Given the description of an element on the screen output the (x, y) to click on. 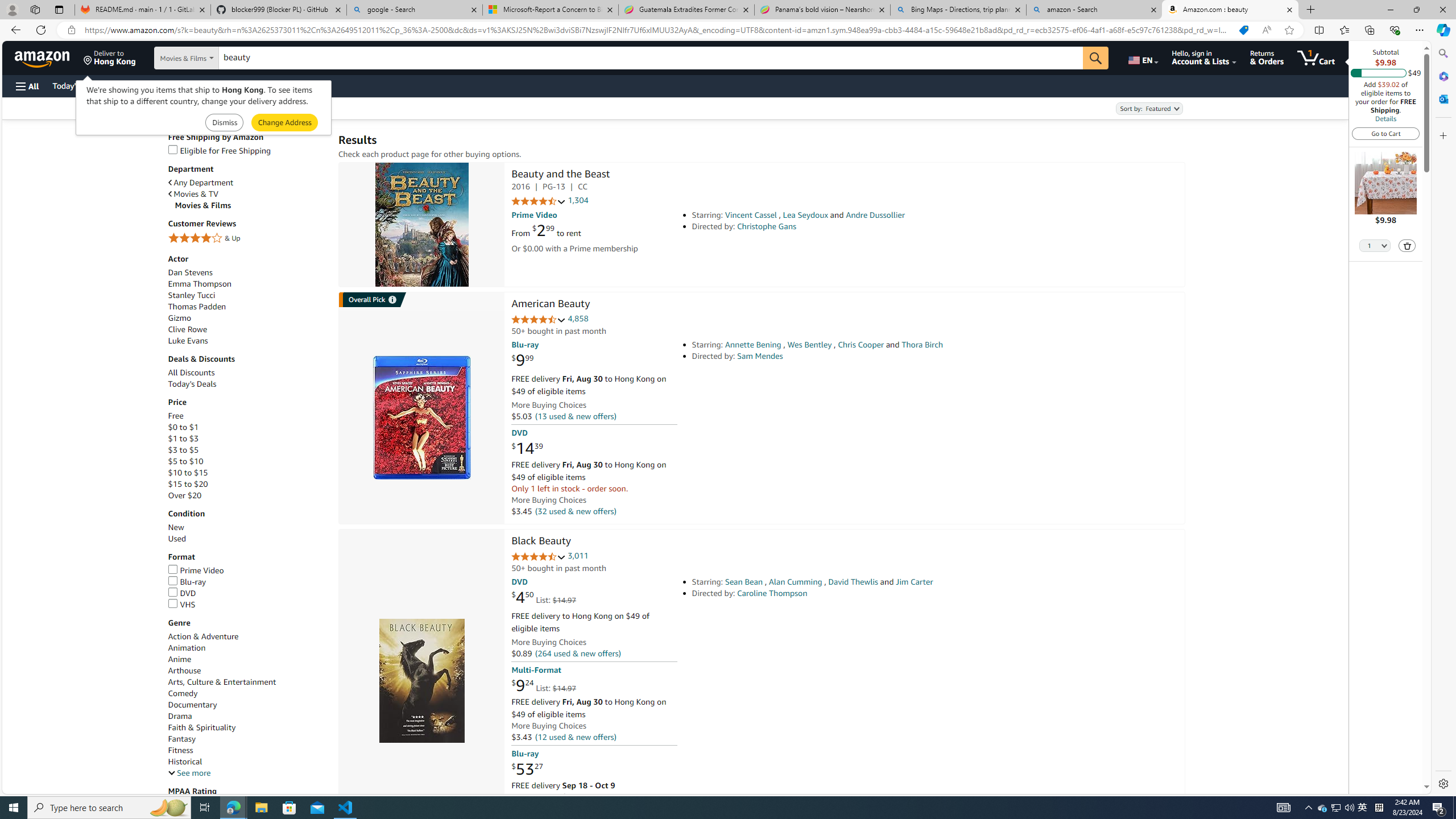
Beauty and the Beast (560, 174)
Registry (205, 85)
Vincent Cassel (751, 214)
$14.39 (527, 448)
Clive Rowe (247, 329)
VHS (181, 604)
$15 to $20 (247, 483)
Delete (1407, 245)
Details (1385, 118)
VHS (247, 604)
Used (247, 538)
4.7 out of 5 stars (538, 557)
1 item in cart (1315, 57)
